Given the description of an element on the screen output the (x, y) to click on. 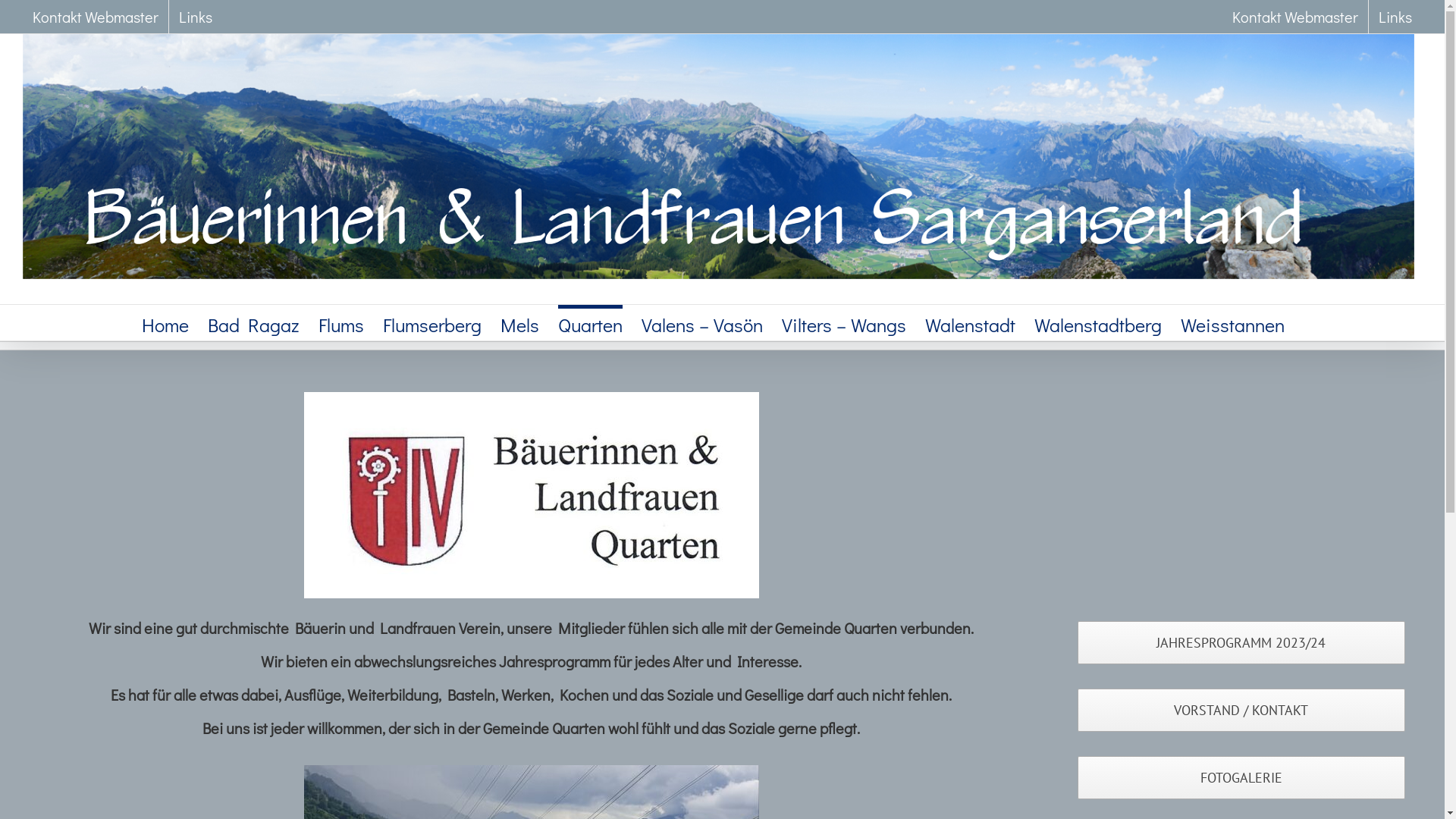
Links Element type: text (195, 16)
Kontakt Webmaster Element type: text (95, 16)
Links Element type: text (1394, 16)
Quarten Element type: text (590, 322)
Flums Element type: text (341, 322)
VORSTAND / KONTAKT Element type: text (1240, 709)
Flumserberg Element type: text (431, 322)
Walenstadtberg Element type: text (1097, 322)
Bad Ragaz Element type: text (253, 322)
FOTOGALERIE Element type: text (1240, 777)
Home Element type: text (164, 322)
Bild (3) Element type: hover (530, 495)
Weisstannen Element type: text (1231, 322)
Walenstadt Element type: text (970, 322)
JAHRESPROGRAMM 2023/24 Element type: text (1240, 642)
Kontakt Webmaster Element type: text (1295, 16)
Mels Element type: text (519, 322)
